Given the description of an element on the screen output the (x, y) to click on. 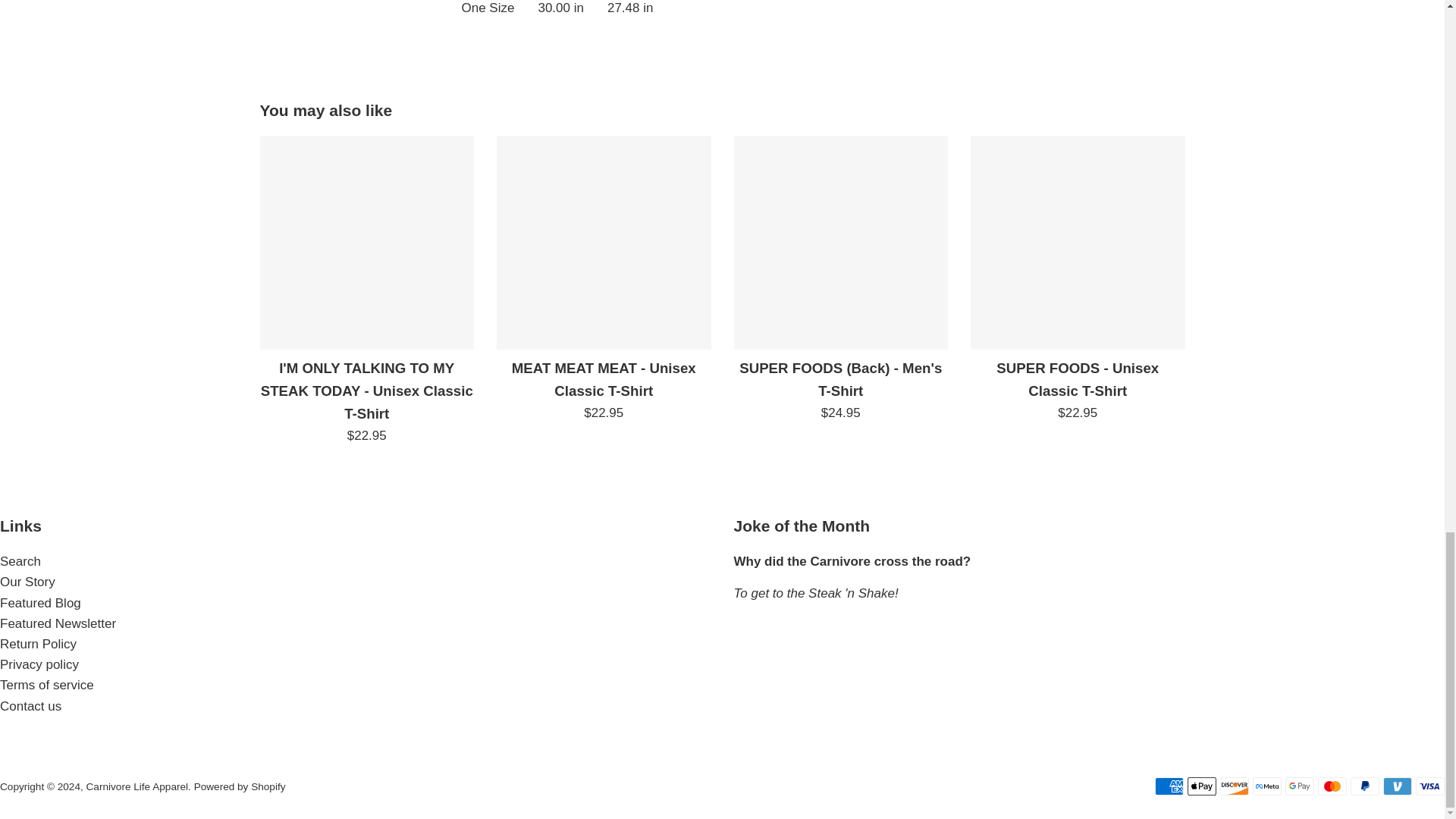
I'M ONLY TALKING TO MY STEAK TODAY - Unisex Classic T-Shirt (366, 390)
Mastercard (1331, 786)
Discover (1234, 786)
Meta Pay (1266, 786)
Google Pay (1299, 786)
PayPal (1364, 786)
SUPER FOODS - Unisex Classic T-Shirt (1078, 242)
MEAT MEAT MEAT - Unisex Classic T-Shirt (603, 242)
I'M ONLY TALKING TO MY STEAK TODAY - Unisex Classic T-Shirt (366, 242)
American Express (1168, 786)
